Given the description of an element on the screen output the (x, y) to click on. 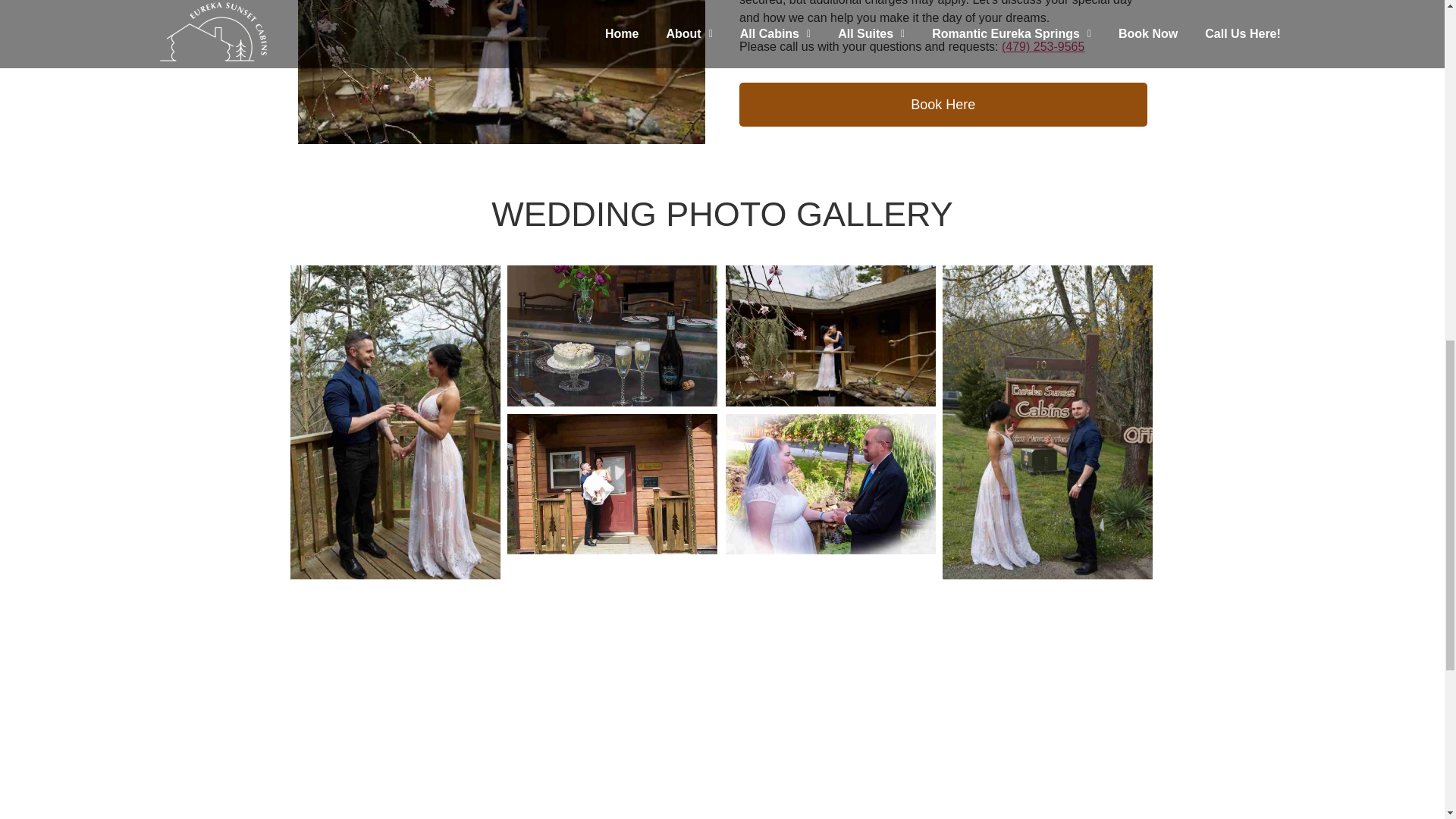
Book Here (943, 104)
